Given the description of an element on the screen output the (x, y) to click on. 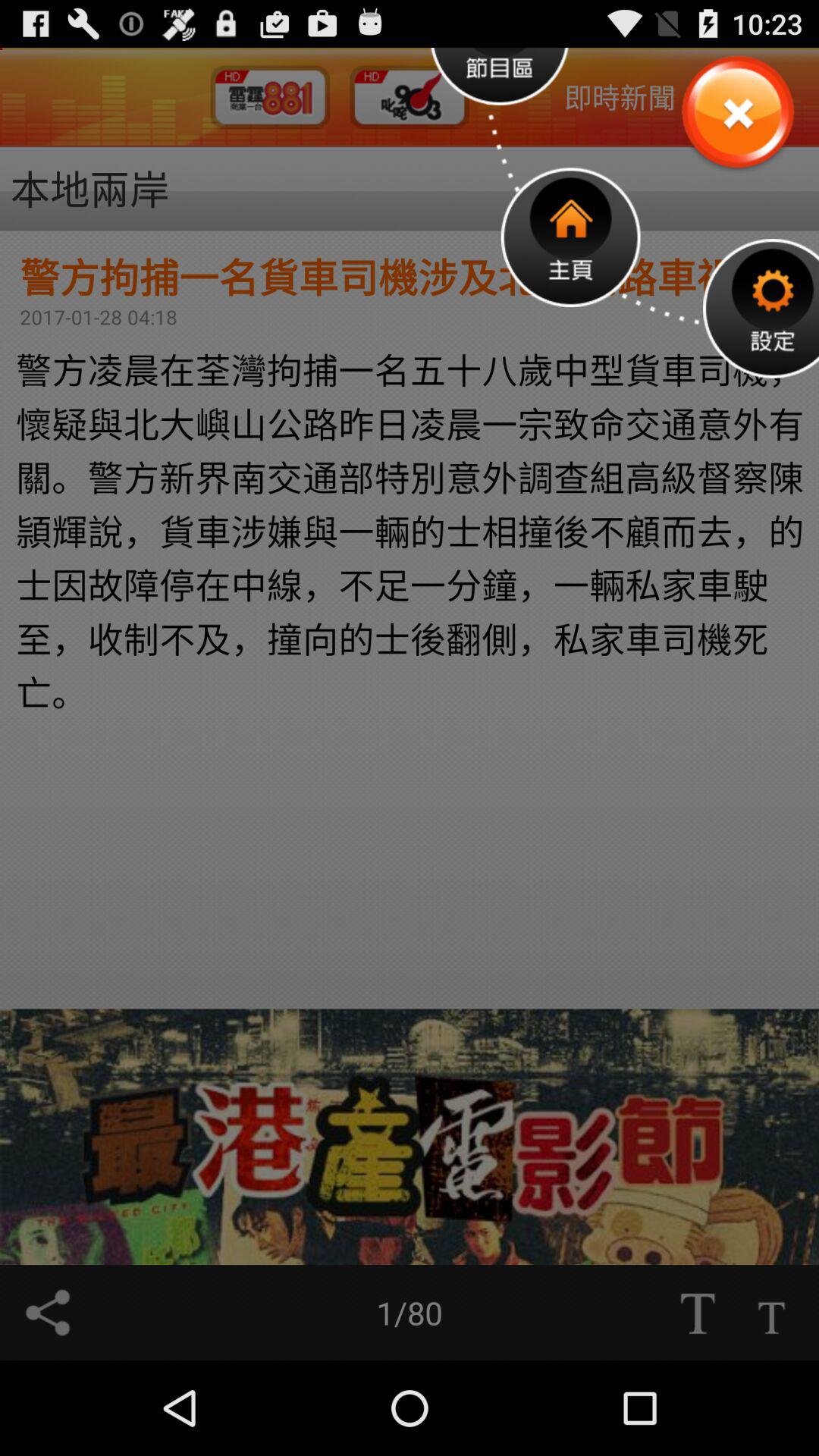
go to setting (760, 308)
